Given the description of an element on the screen output the (x, y) to click on. 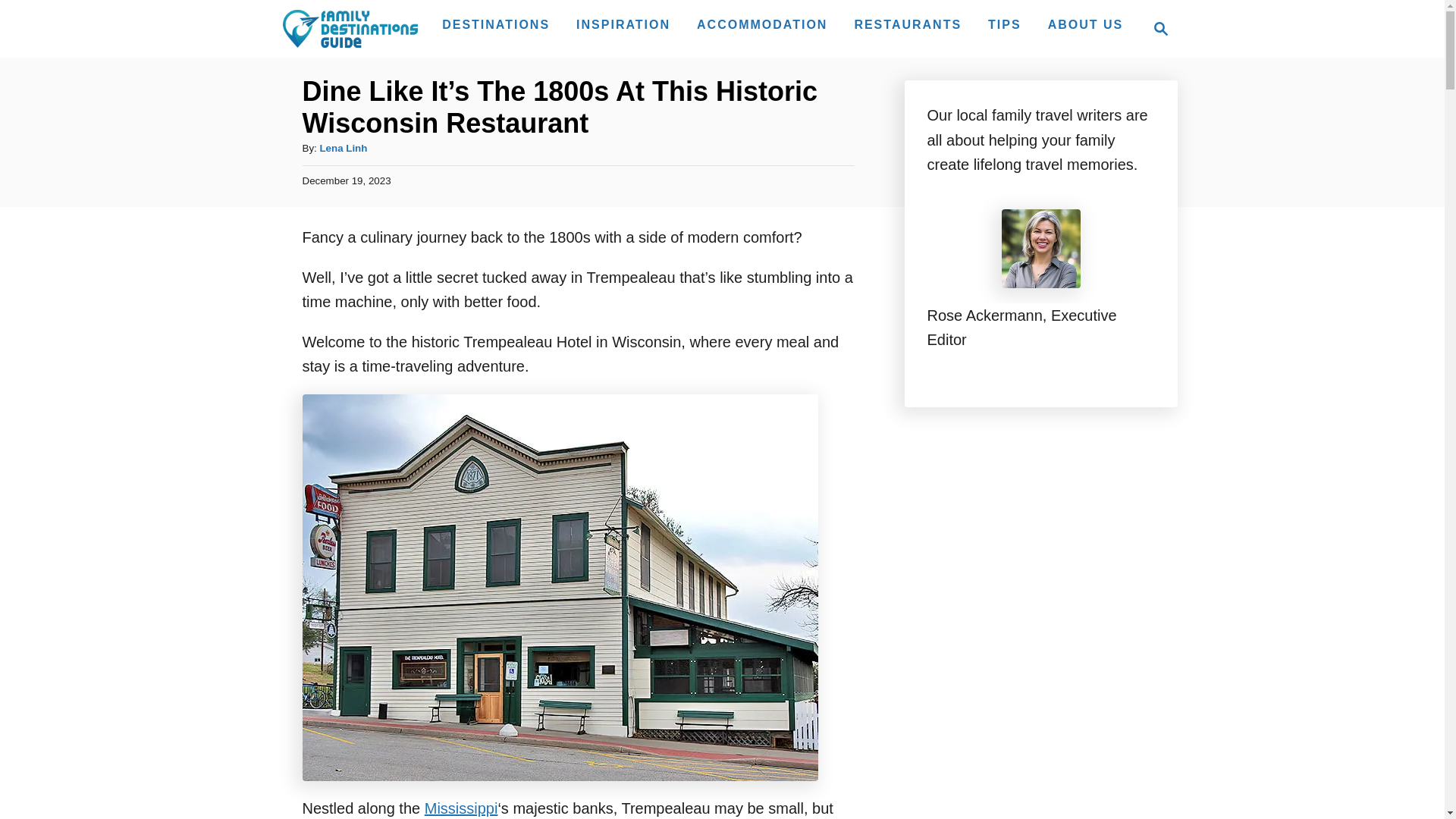
Family Destinations Guide (349, 28)
Mississippi (1155, 28)
ACCOMMODATION (461, 808)
RESTAURANTS (761, 24)
TIPS (907, 24)
DESTINATIONS (1004, 24)
Lena Linh (495, 24)
Magnifying Glass (342, 147)
ABOUT US (1160, 28)
